Given the description of an element on the screen output the (x, y) to click on. 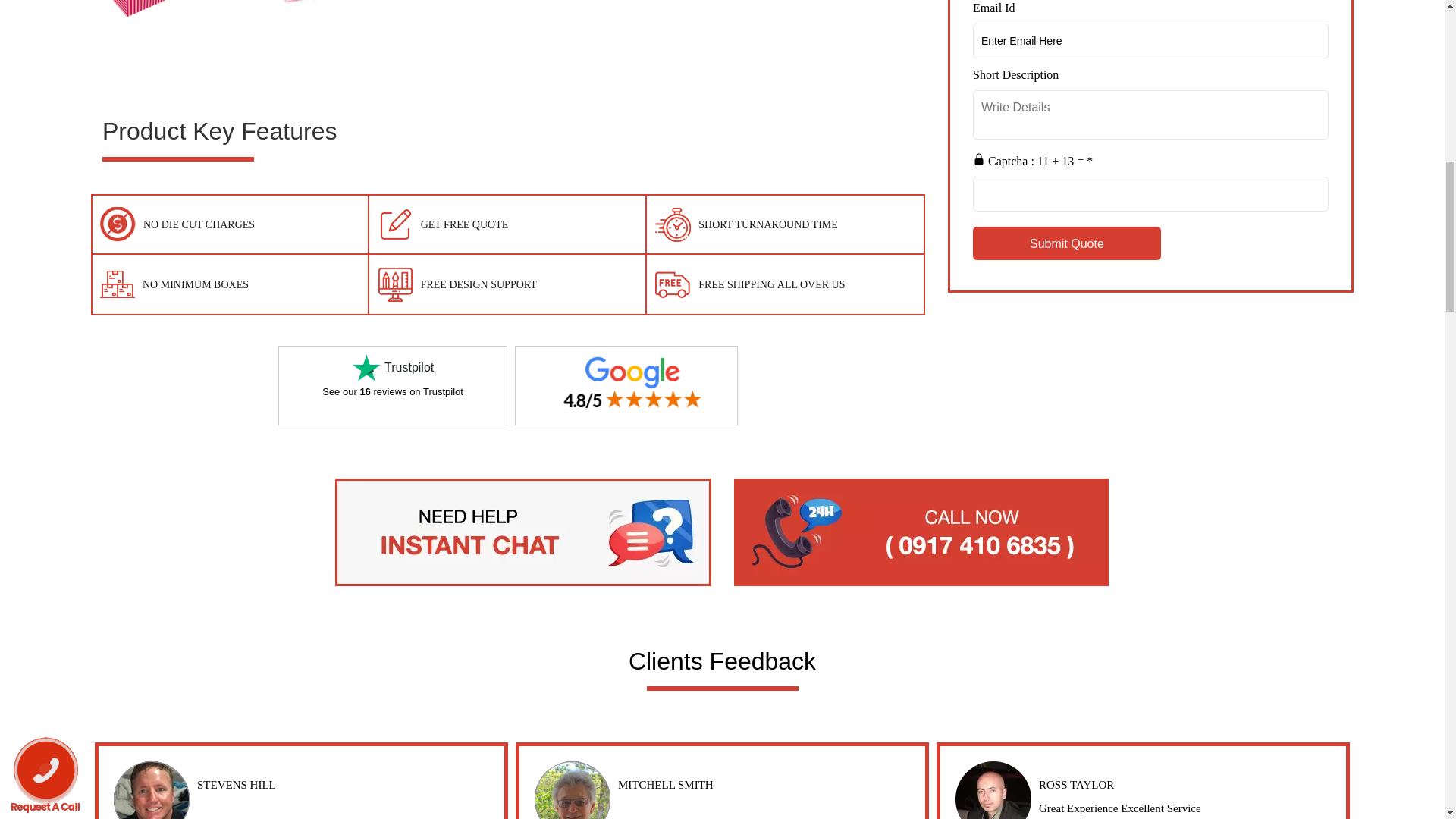
See our 16 reviews on Trustpilot (392, 391)
Submit Quote (1066, 243)
